Given the description of an element on the screen output the (x, y) to click on. 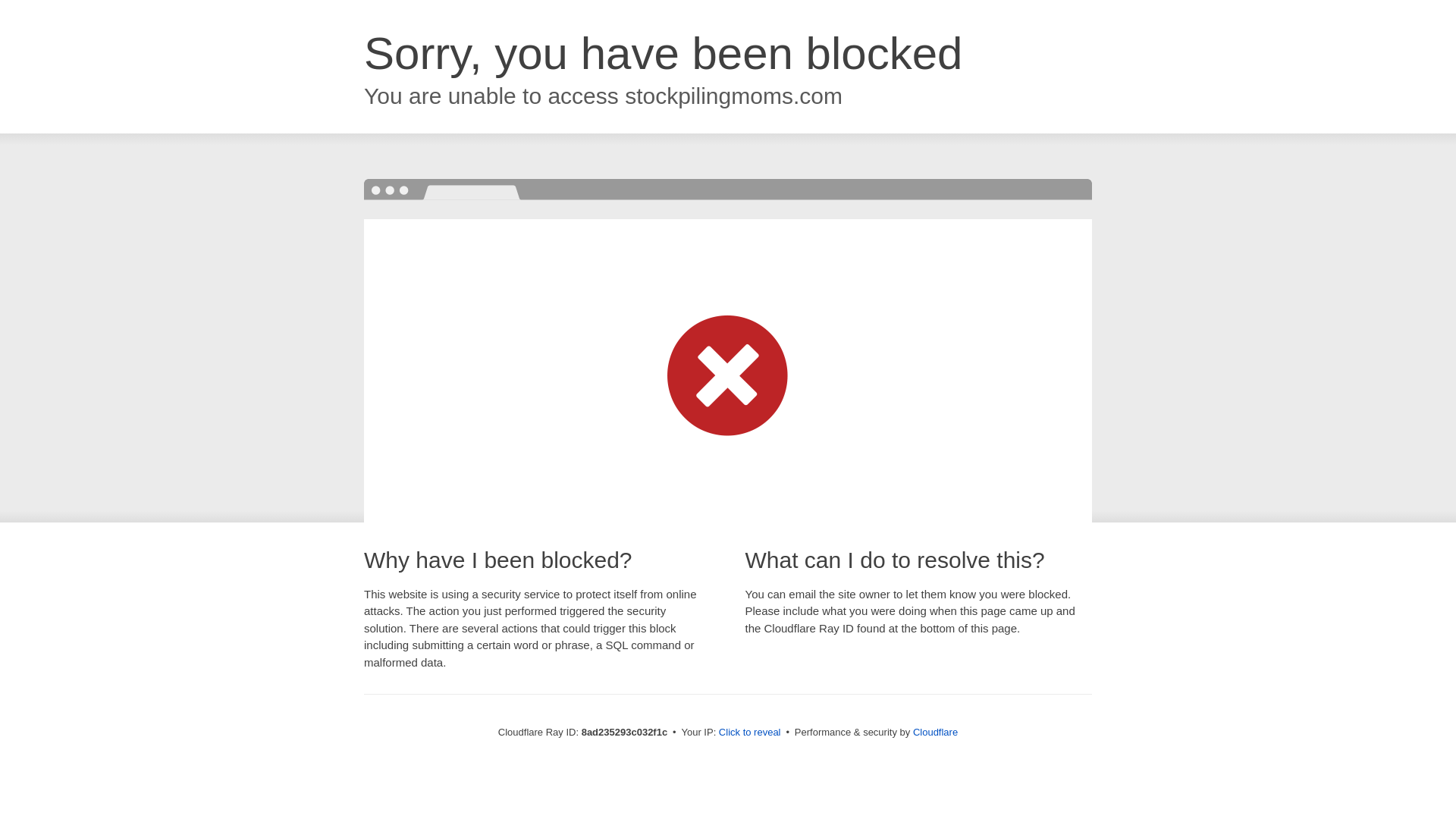
Click to reveal (749, 732)
Cloudflare (935, 731)
